Given the description of an element on the screen output the (x, y) to click on. 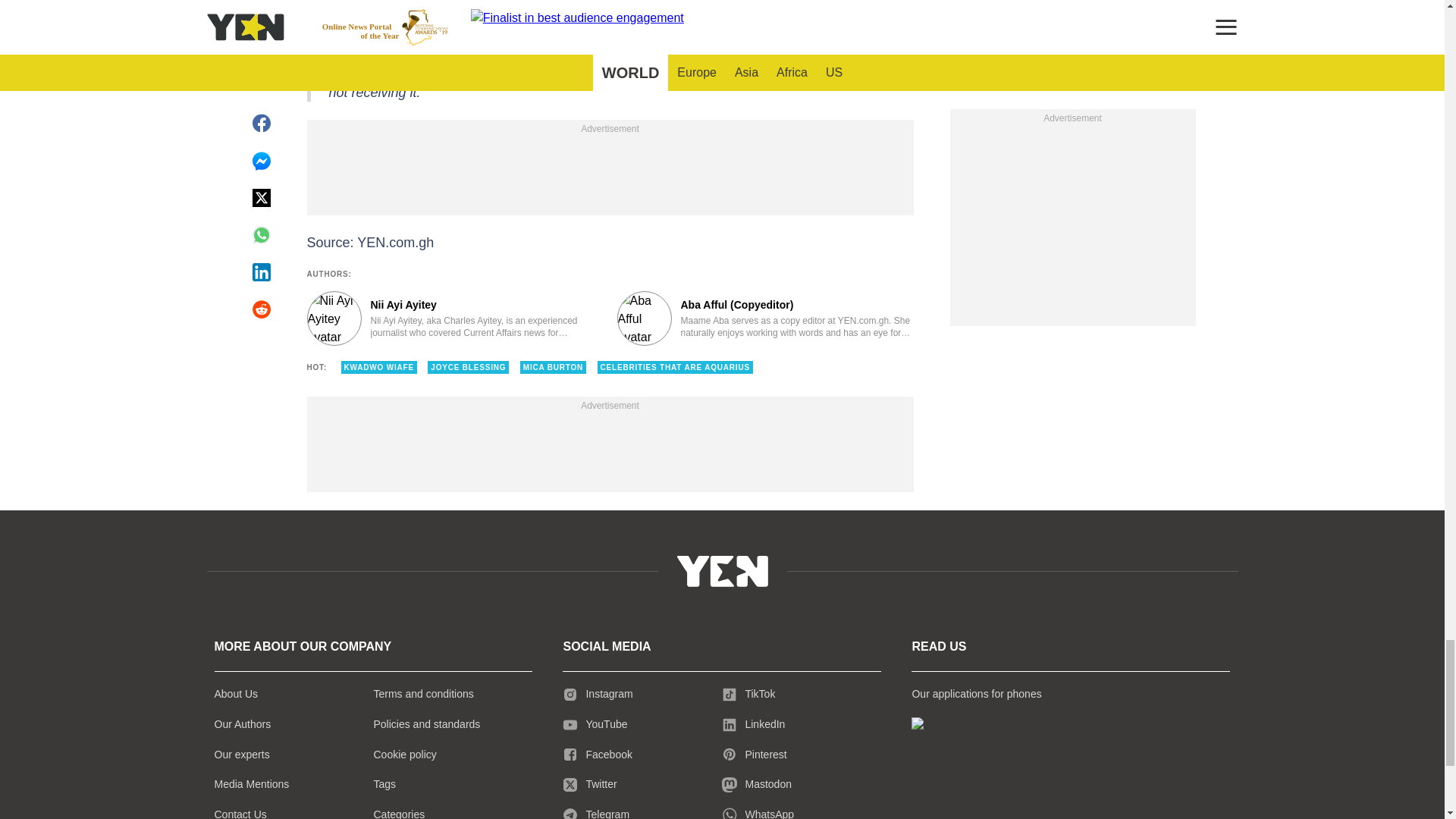
Author page (765, 318)
Author page (453, 318)
